Given the description of an element on the screen output the (x, y) to click on. 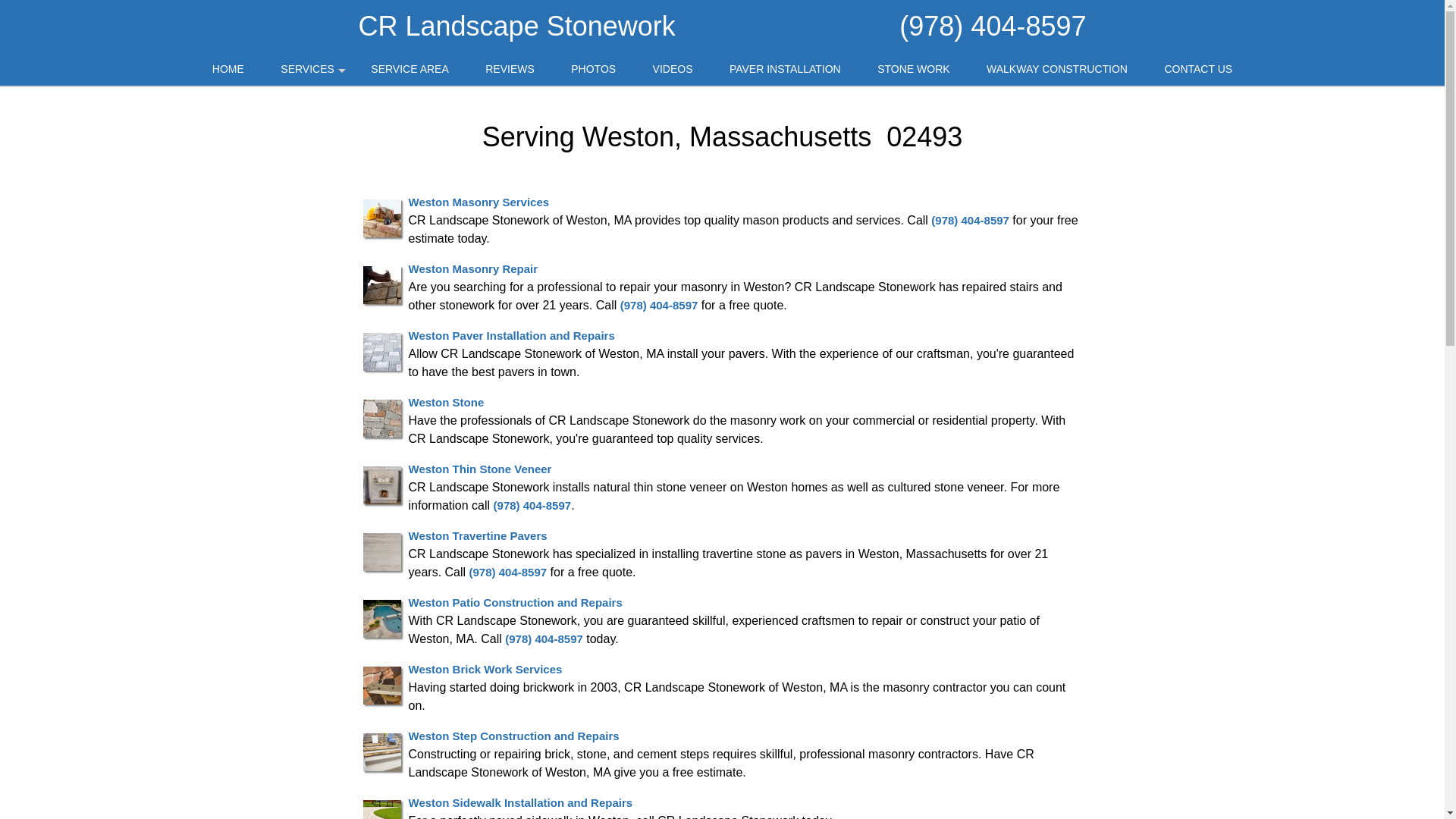
CONTACT US (1198, 69)
PHOTOS (592, 69)
Weston Stone (445, 401)
Weston Travertine Pavers (477, 535)
WALKWAY CONSTRUCTION (1056, 69)
PAVER INSTALLATION (785, 69)
REVIEWS (509, 69)
HOME (227, 69)
Weston Step Construction and Repairs (512, 735)
Weston Patio Construction and Repairs (514, 602)
